Given the description of an element on the screen output the (x, y) to click on. 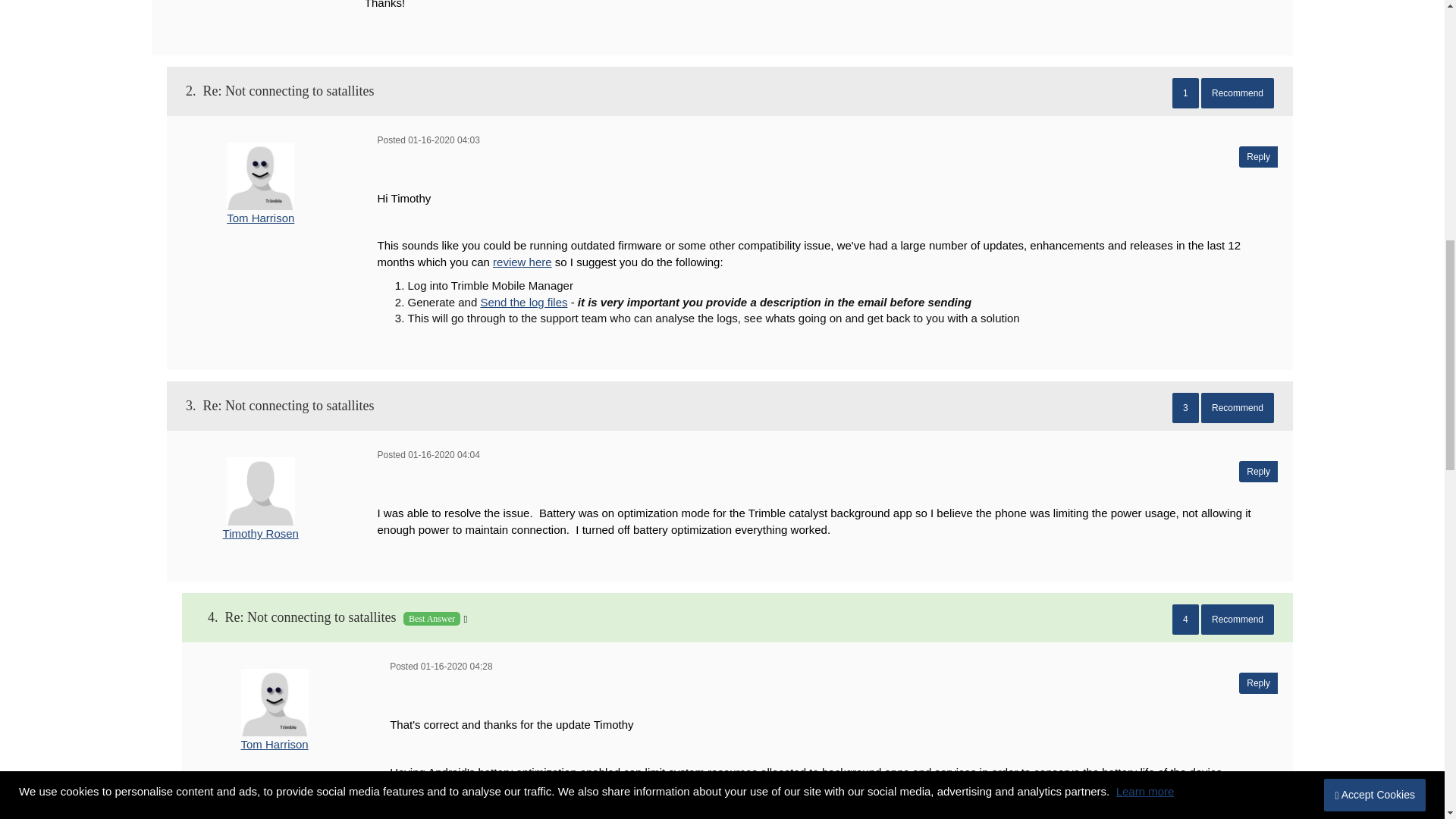
Recommend this item. (1237, 92)
Selected as the best answer (737, 617)
Recommend this item. (1237, 619)
Tom Harrison (260, 175)
Tom Harrison (274, 702)
Timothy Rosen (261, 491)
Recommend this item. (1237, 408)
